Given the description of an element on the screen output the (x, y) to click on. 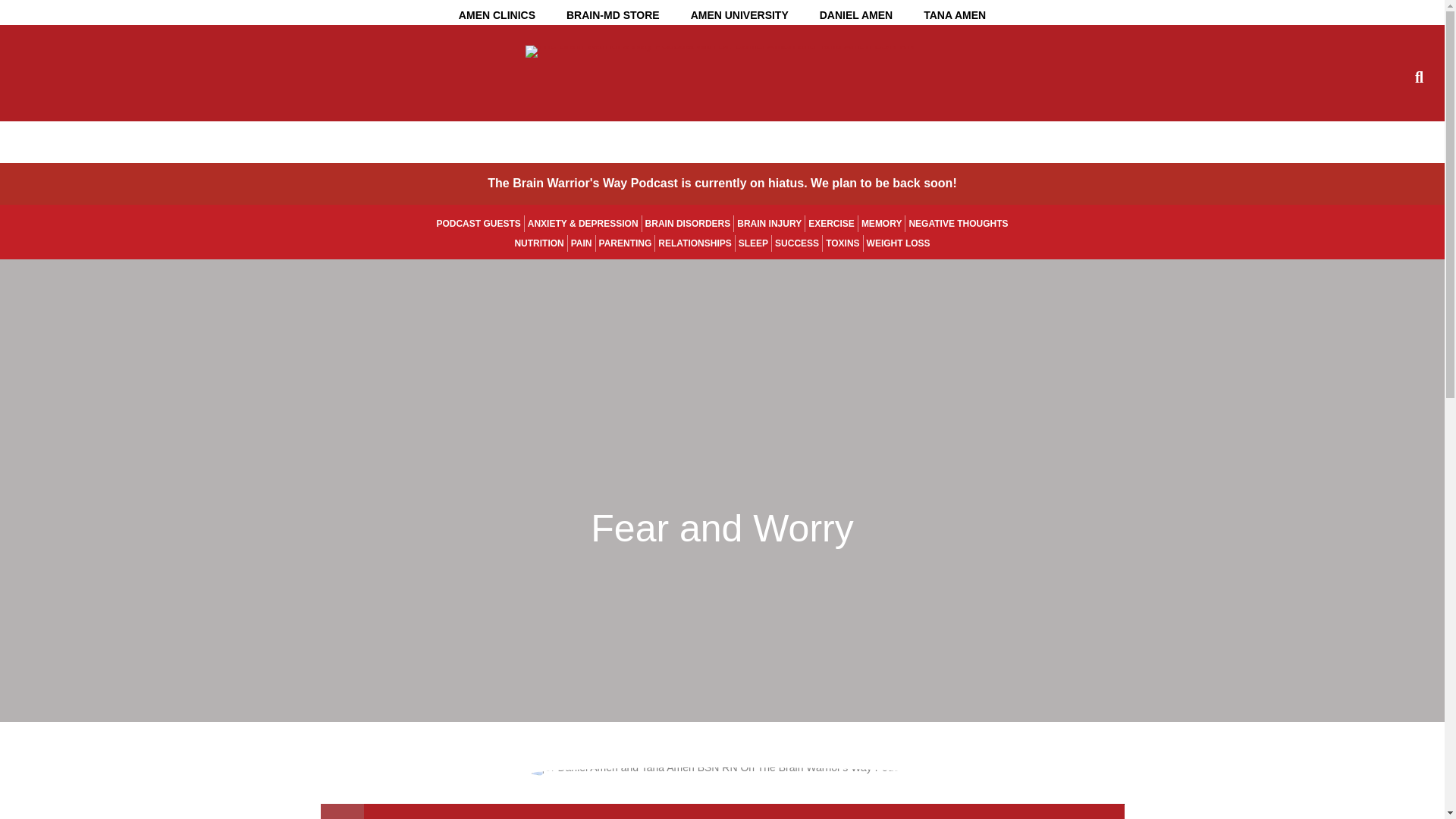
PARENTING (625, 243)
The-Brain-Warriors-Way-Podcast-Banner (719, 50)
MEMORY (882, 223)
TANA AMEN (954, 15)
PAIN (581, 243)
SLEEP (753, 243)
WEIGHT LOSS (898, 243)
BRAIN DISORDERS (687, 223)
PODCAST GUESTS (477, 223)
NUTRITION (538, 243)
NEGATIVE THOUGHTS (957, 223)
RELATIONSHIPS (694, 243)
SUCCESS (796, 243)
BRAIN-MD STORE (613, 15)
EXERCISE (831, 223)
